Given the description of an element on the screen output the (x, y) to click on. 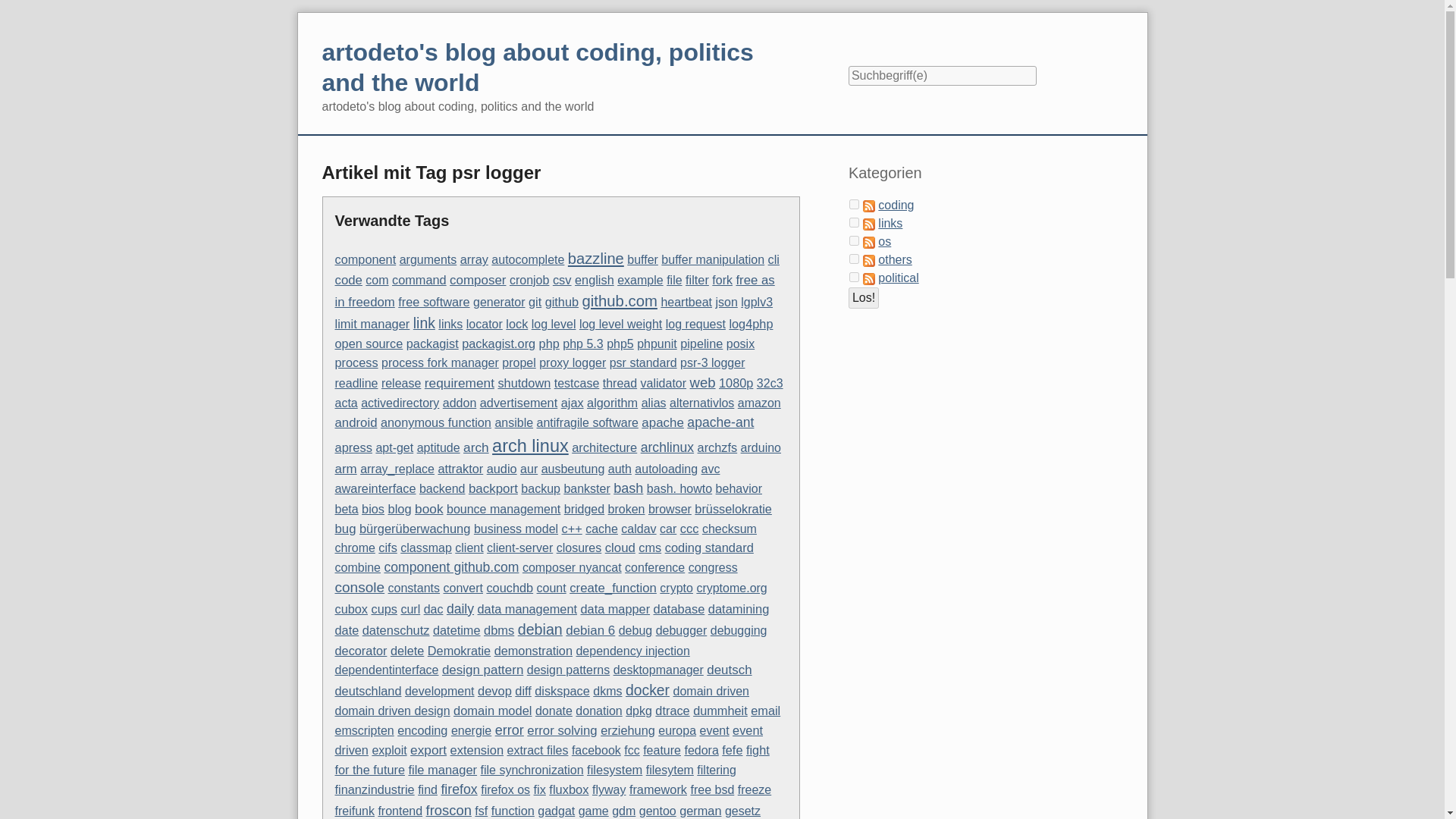
log level (553, 323)
com (376, 279)
links (450, 323)
cronjob (528, 279)
code (348, 279)
composer (477, 279)
array (473, 259)
file (673, 279)
2 (854, 240)
command (418, 279)
buffer (642, 259)
free software (432, 301)
log level weight (620, 323)
buffer manipulation (712, 259)
